Given the description of an element on the screen output the (x, y) to click on. 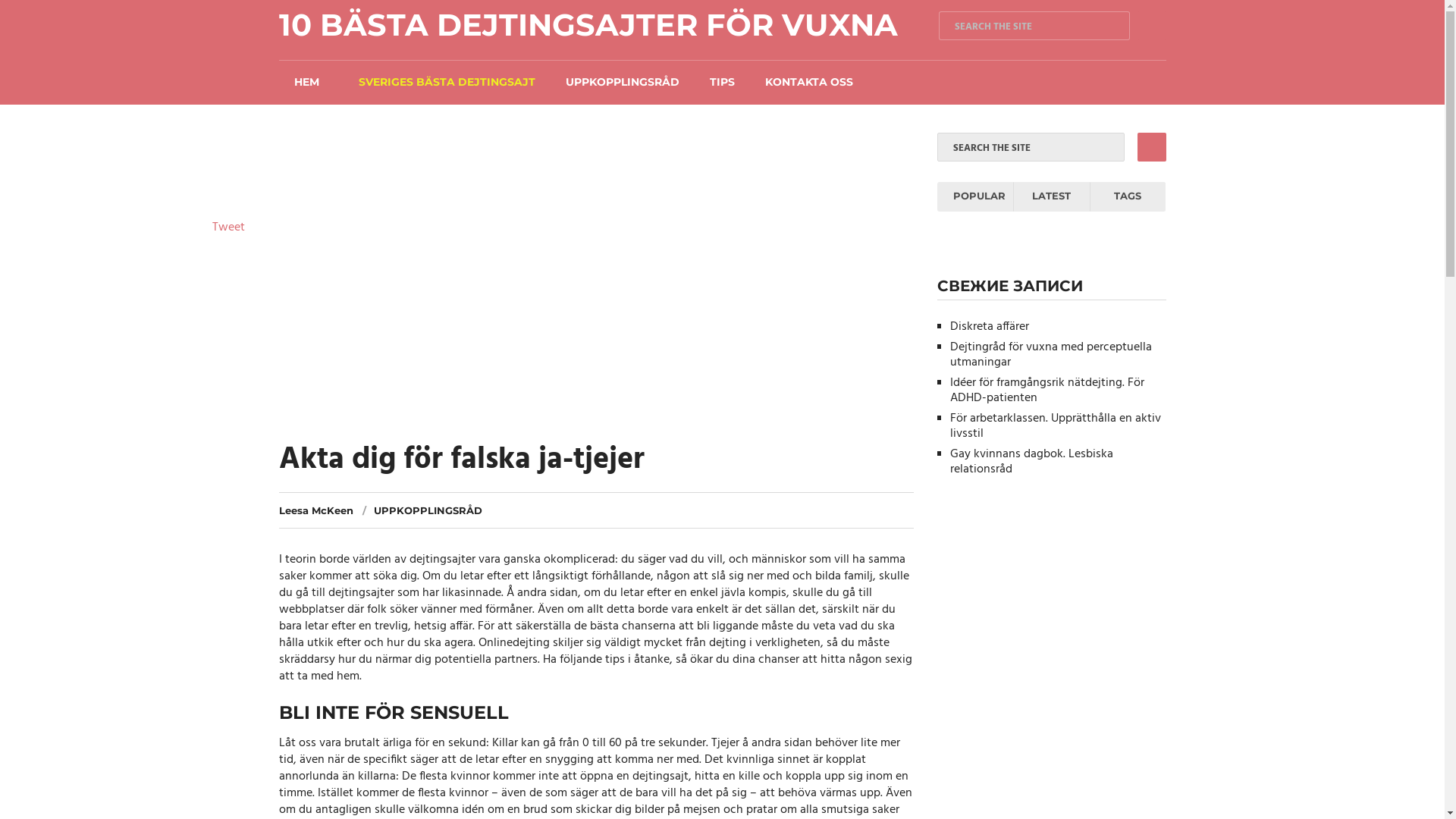
Leesa McKeen Element type: text (316, 510)
POPULAR Element type: text (975, 196)
TIPS Element type: text (721, 81)
TAGS Element type: text (1127, 196)
LATEST Element type: text (1051, 196)
HEM Element type: text (306, 81)
Tweet Element type: text (228, 227)
KONTAKTA OSS Element type: text (808, 81)
